Given the description of an element on the screen output the (x, y) to click on. 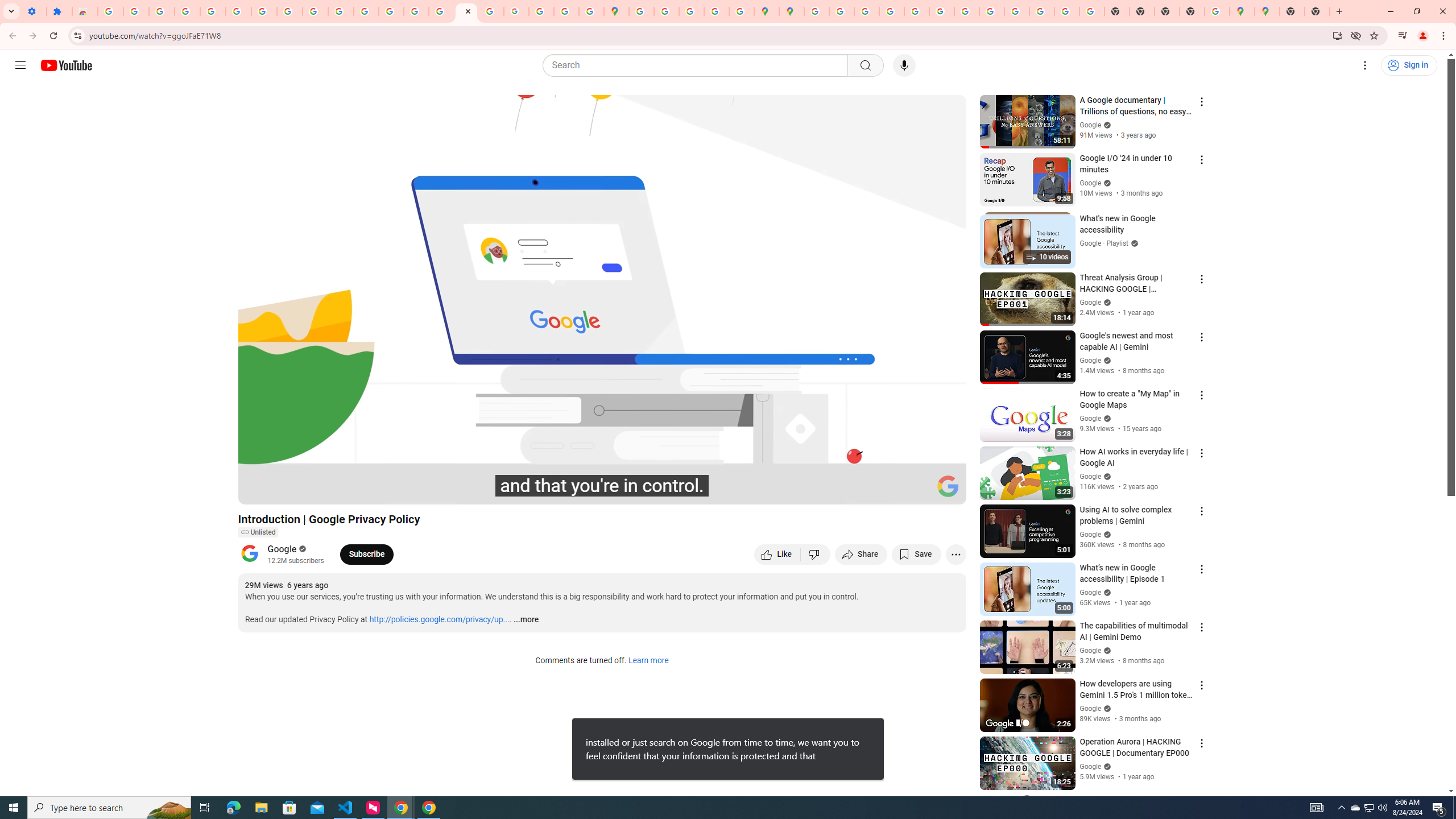
Next (SHIFT+n) (284, 490)
Learn more (647, 661)
Seek slider (601, 476)
http://policies.google.com/privacy/up... (439, 619)
Mute (m) (312, 490)
